Given the description of an element on the screen output the (x, y) to click on. 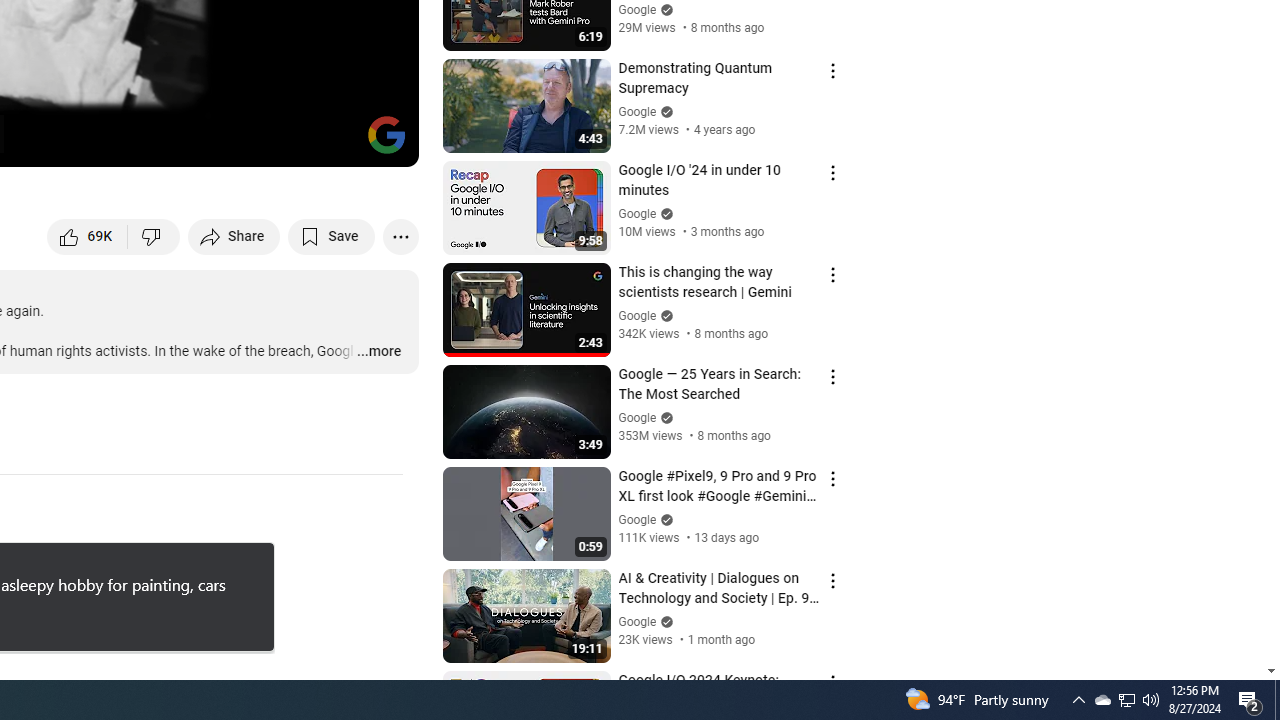
...more (377, 352)
More actions (399, 236)
Autoplay is on (141, 142)
Miniplayer (i) (286, 142)
Channel watermark (386, 134)
Channel watermark (386, 134)
Share (234, 236)
